Given the description of an element on the screen output the (x, y) to click on. 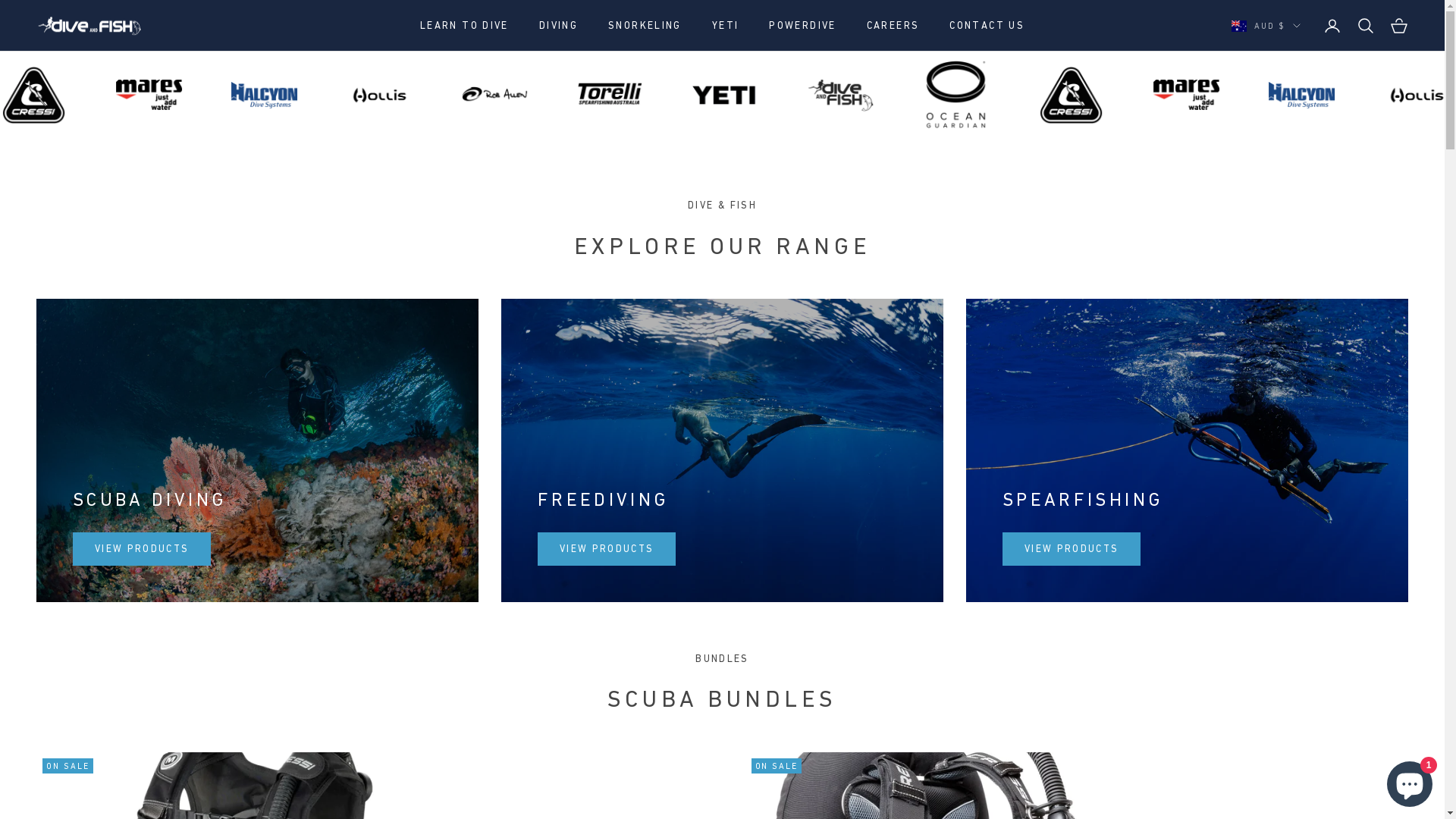
SCUBA DIVING
VIEW PRODUCTS Element type: text (257, 450)
LEARN TO DIVE Element type: text (464, 25)
Shopify online store chat Element type: hover (1409, 780)
SNORKELING Element type: text (644, 25)
POWERDIVE Element type: text (801, 25)
CAREERS Element type: text (892, 25)
YETI Element type: text (725, 25)
FREEDIVING
VIEW PRODUCTS Element type: text (722, 450)
Open search Element type: text (1365, 25)
SPEARFISHING
VIEW PRODUCTS Element type: text (1187, 450)
Open cart Element type: text (1399, 25)
VIEW PRODUCTS Element type: text (606, 548)
VIEW PRODUCTS Element type: text (141, 548)
Dive & Fish Element type: text (89, 25)
VIEW PRODUCTS Element type: text (1071, 548)
AUD $ Element type: text (1265, 25)
Open account page Element type: text (1332, 25)
